Given the description of an element on the screen output the (x, y) to click on. 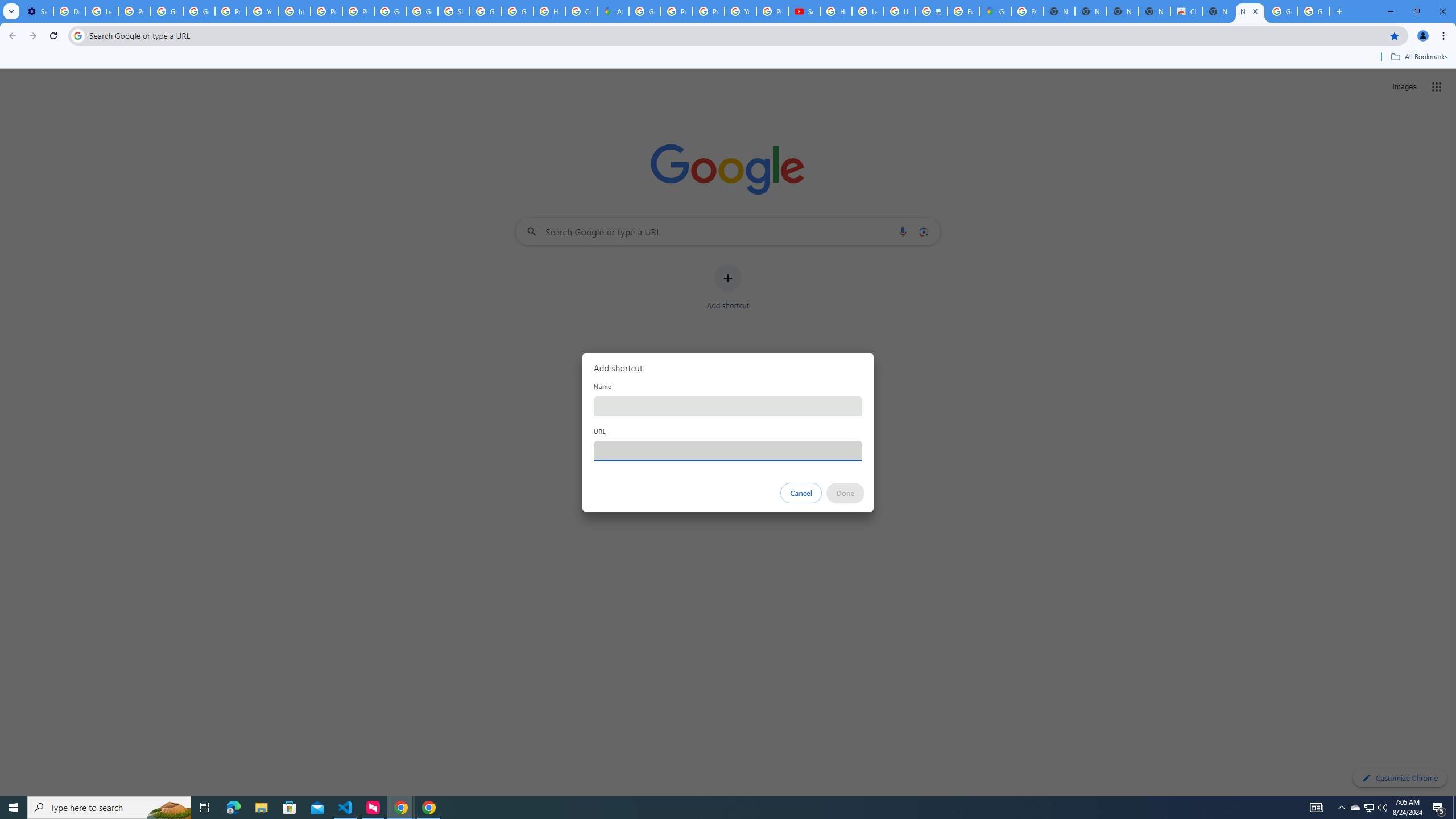
Privacy Help Center - Policies Help (708, 11)
Restore (1416, 11)
Chrome (1445, 35)
Bookmarks (728, 58)
Explore new street-level details - Google Maps Help (963, 11)
Google Images (1281, 11)
Subscriptions - YouTube (804, 11)
New Tab (1338, 11)
Search icon (77, 35)
Bookmark this tab (1393, 35)
Privacy Help Center - Policies Help (326, 11)
Delete photos & videos - Computer - Google Photos Help (69, 11)
